Given the description of an element on the screen output the (x, y) to click on. 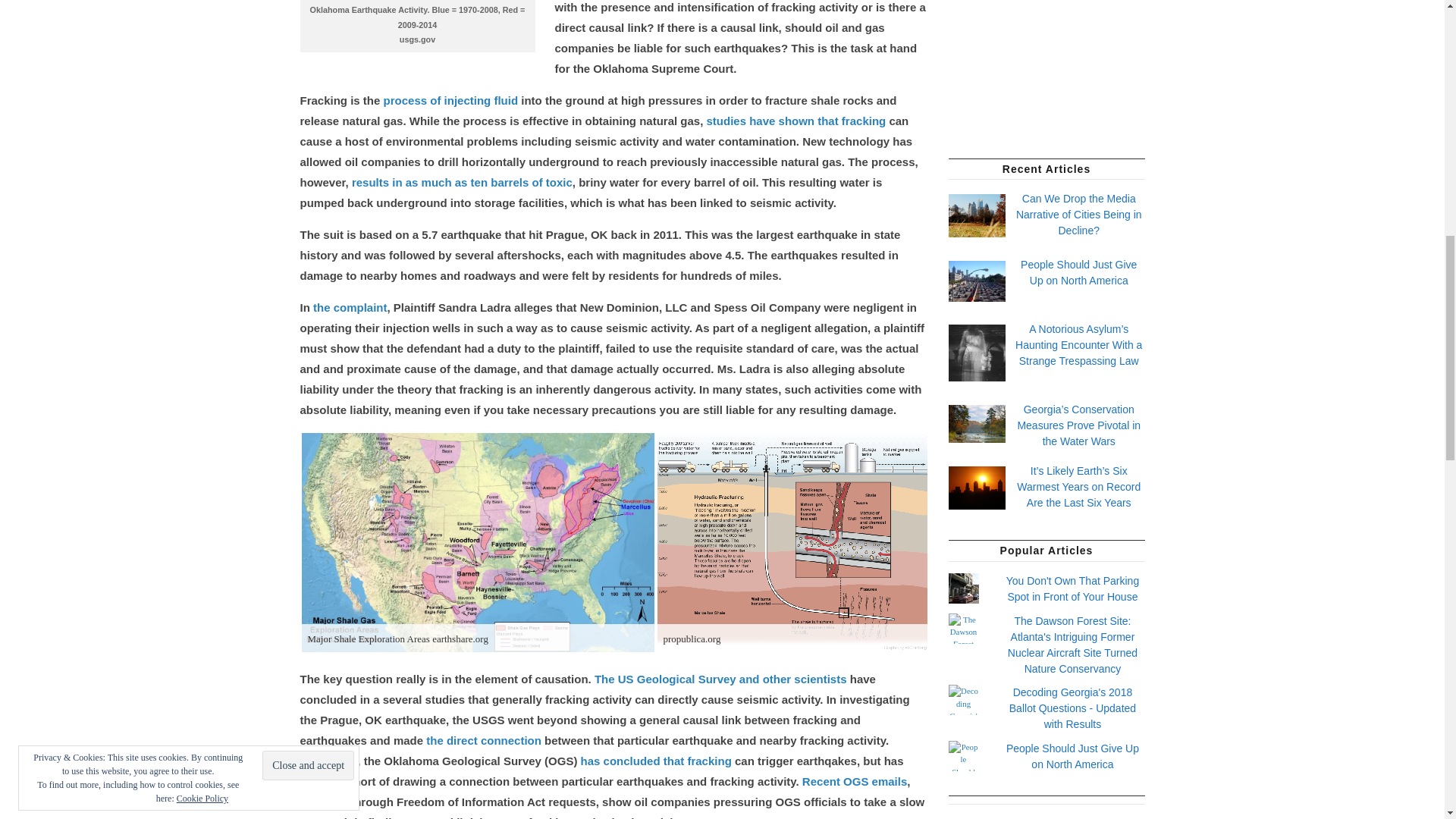
studies have shown that fracking (796, 120)
The US Geological Survey and other scientists (720, 678)
Recent OGS emails (854, 780)
shale exploration aras (477, 542)
process of injecting fluid (451, 100)
results in as much as ten barrels of toxic (462, 182)
the complaint (350, 307)
fracking graphic (791, 542)
You Don't Own That Parking Spot in Front of Your House (1072, 588)
